Given the description of an element on the screen output the (x, y) to click on. 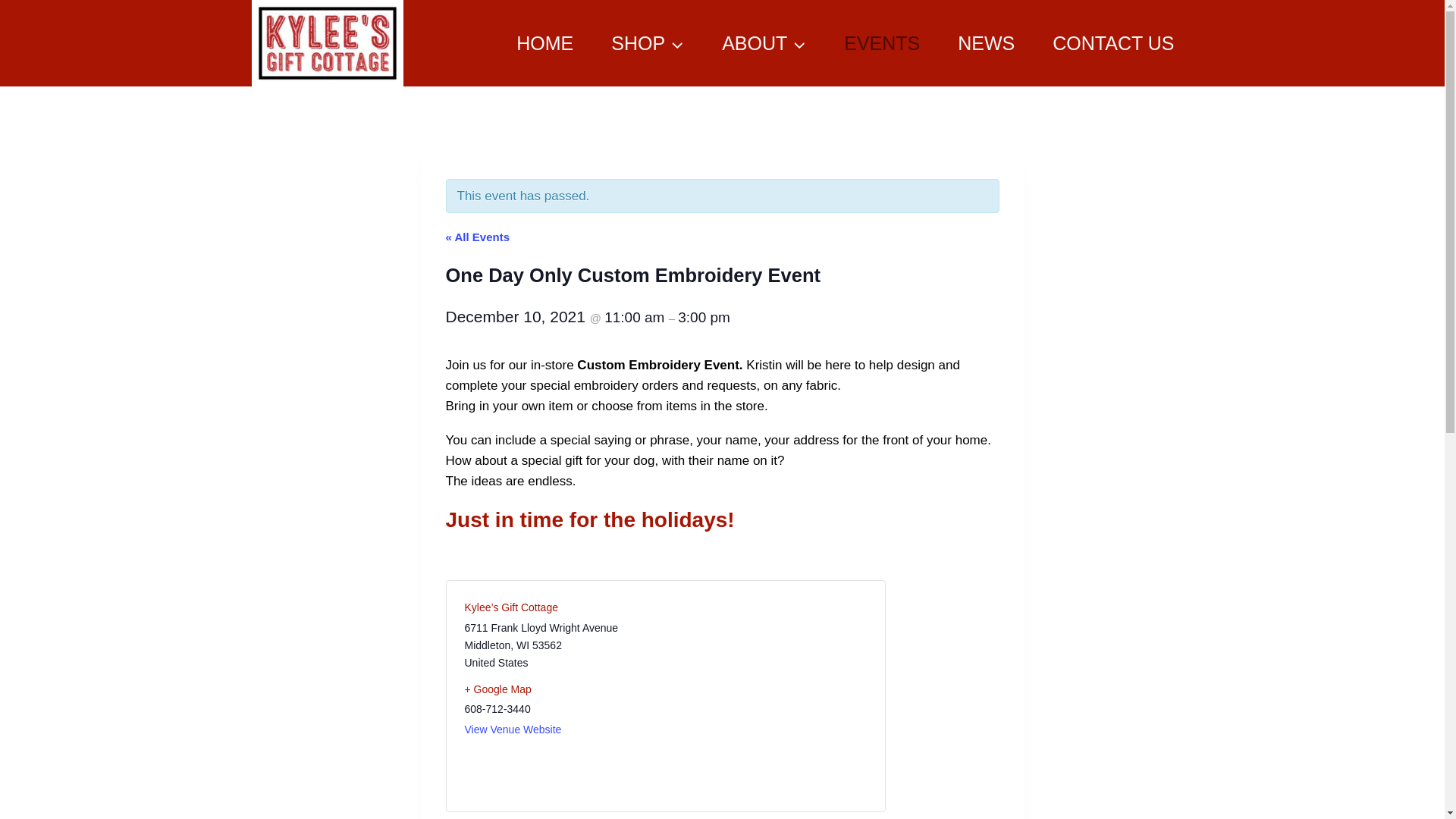
ABOUT (764, 43)
CONTACT US (1112, 43)
HOME (544, 43)
EVENTS (882, 43)
NEWS (986, 43)
Click to view a Google Map (558, 689)
SHOP (647, 43)
Wisconsin (522, 645)
View Venue Website (512, 729)
